Given the description of an element on the screen output the (x, y) to click on. 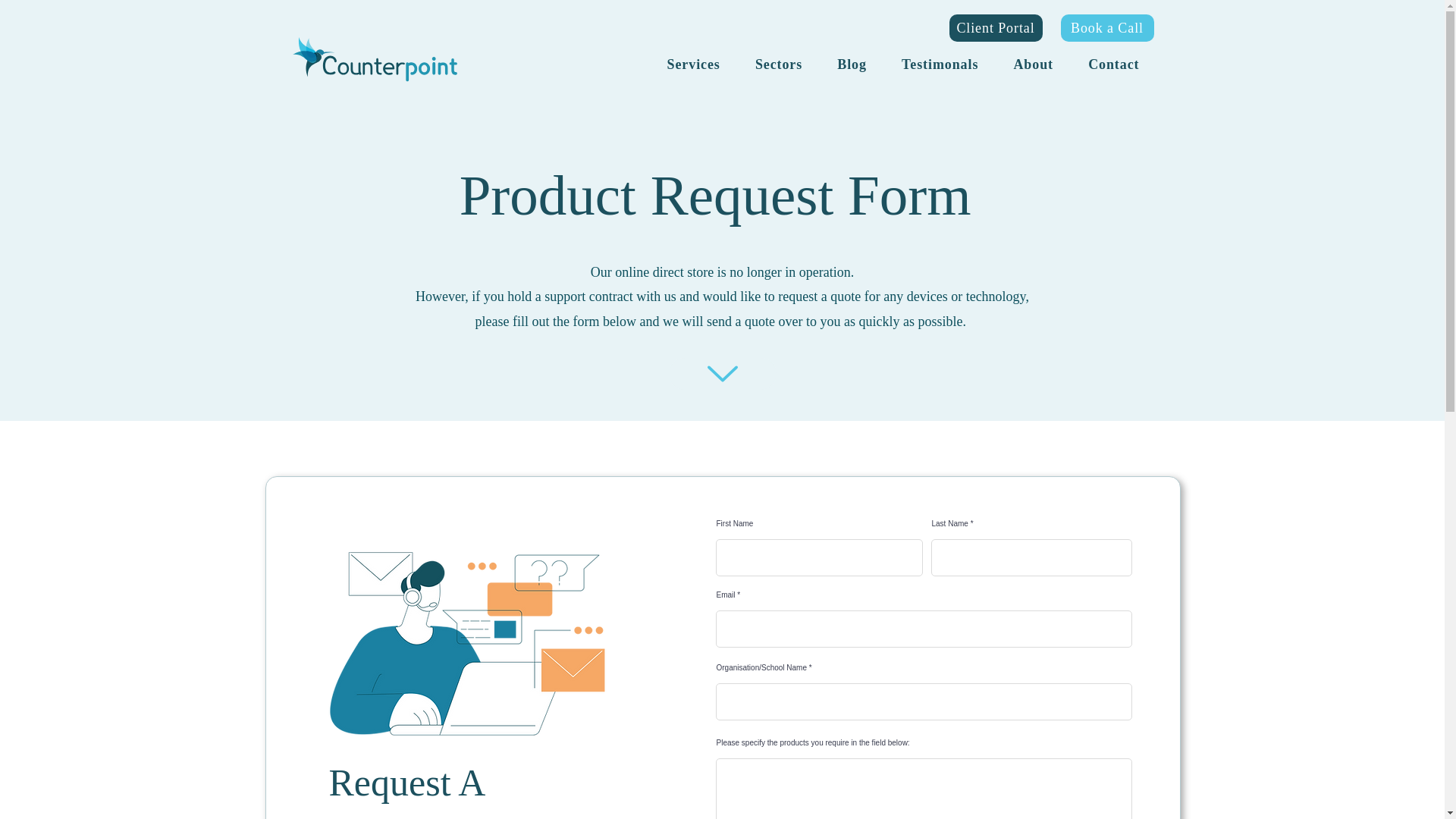
Blog (851, 64)
Book a Call (1106, 27)
About (1032, 64)
Contact (1113, 64)
Client Portal (995, 27)
Contact Us.png (466, 645)
Testimonals (939, 64)
